Given the description of an element on the screen output the (x, y) to click on. 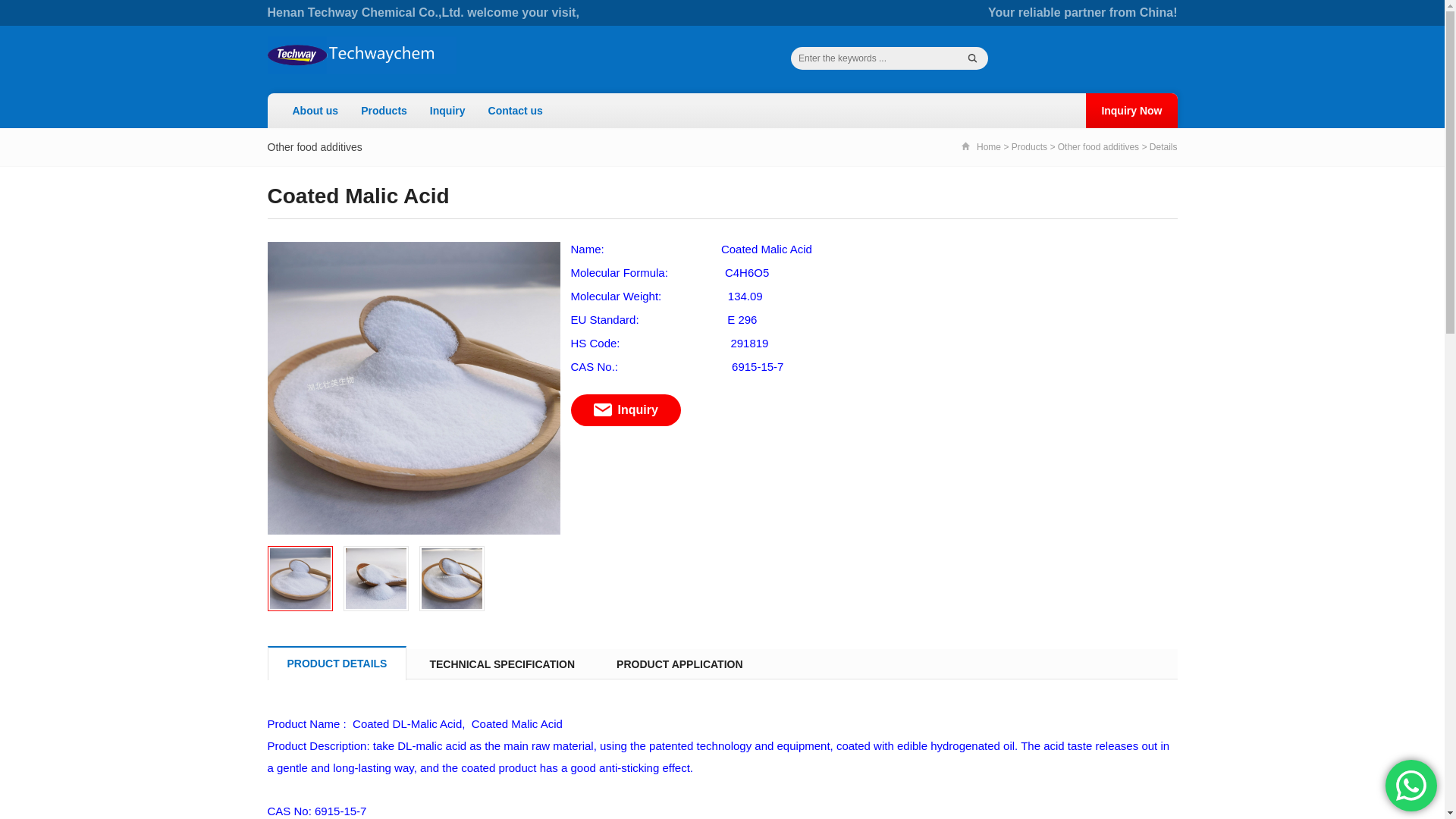
Products (384, 110)
Contact us (515, 110)
Products (1028, 146)
Henan Techway Chemical Co.,Ltd (360, 55)
Inquiry (447, 110)
Search (973, 57)
About us (315, 110)
Inquiry Now (1131, 110)
Home (980, 146)
Other food additives (1098, 146)
